Given the description of an element on the screen output the (x, y) to click on. 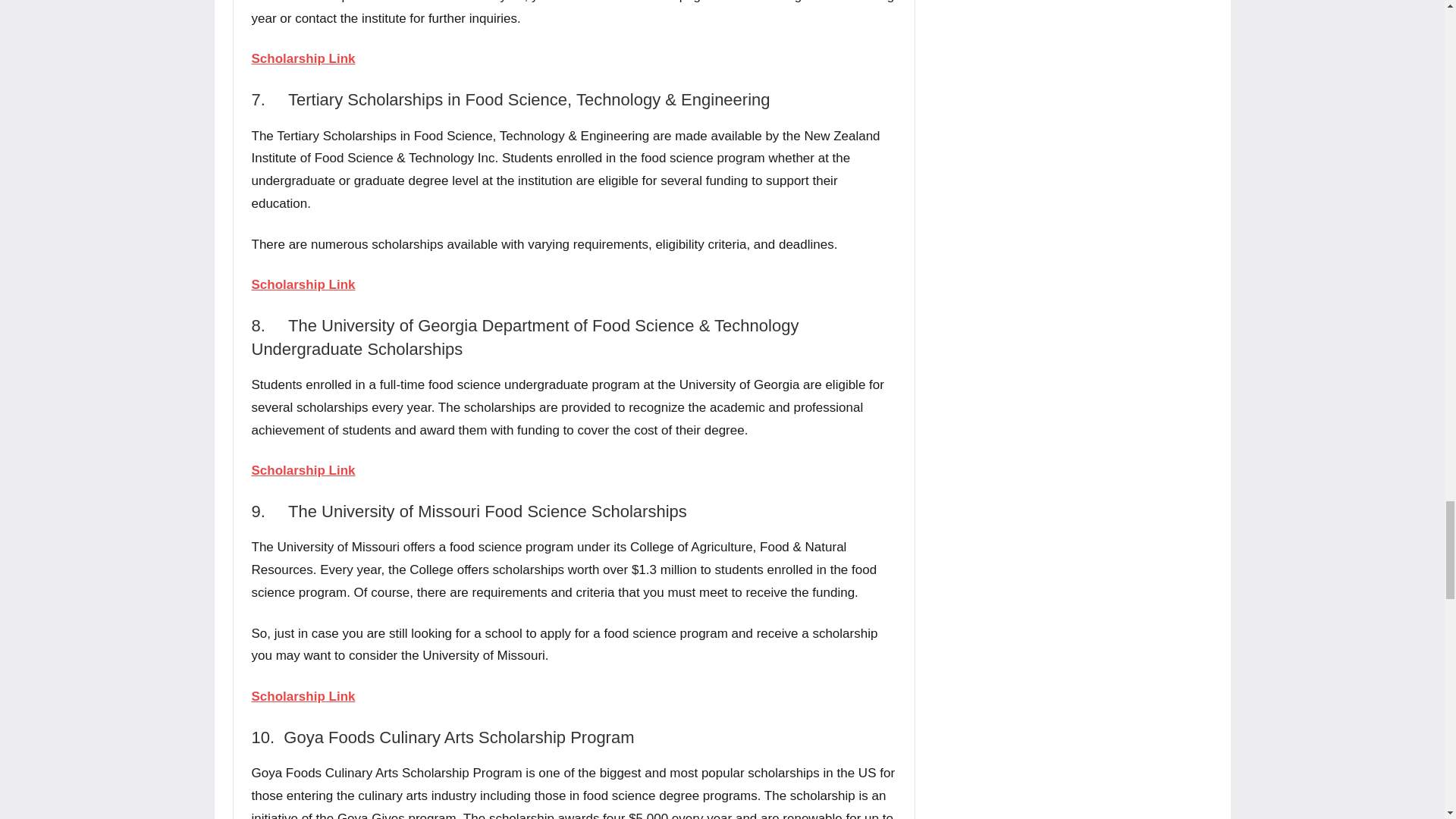
Scholarship Link (303, 696)
Scholarship Link (303, 58)
Scholarship Link (303, 470)
Scholarship Link (303, 284)
